Given the description of an element on the screen output the (x, y) to click on. 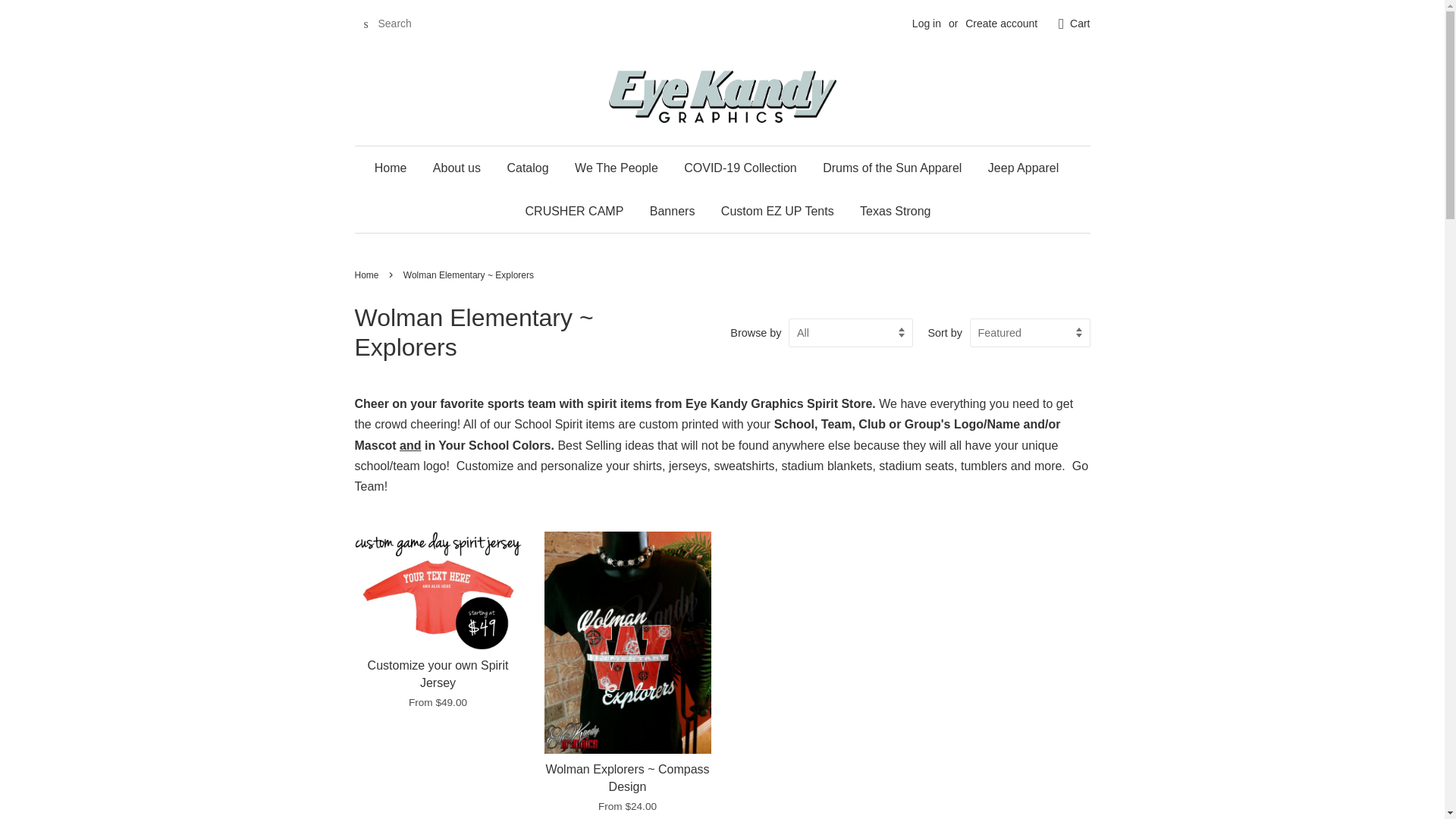
COVID-19 Collection (740, 167)
Jeep Apparel (1023, 167)
Texas Strong (889, 210)
Cart (1079, 24)
Search (366, 24)
Custom EZ UP Tents (777, 210)
Home (396, 167)
Home (368, 275)
Banners (672, 210)
Drums of the Sun Apparel (891, 167)
Catalog (527, 167)
About us (457, 167)
CRUSHER CAMP (573, 210)
We The People (616, 167)
Log in (926, 23)
